Given the description of an element on the screen output the (x, y) to click on. 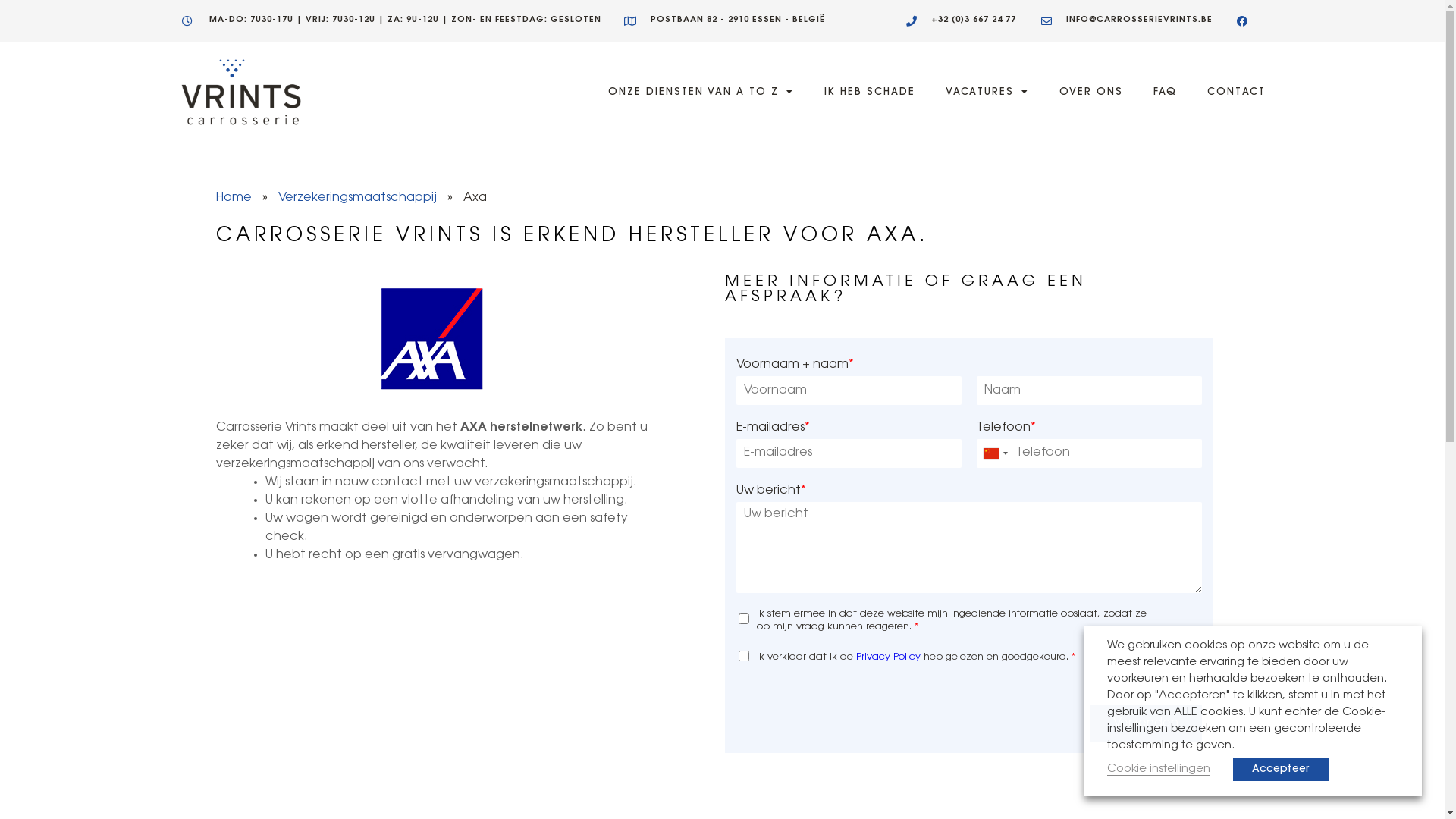
Cookie instellingen Element type: text (1158, 769)
OVER ONS Element type: text (1091, 92)
CONTACT Element type: text (1236, 92)
FAQ Element type: text (1165, 92)
+32 (0)3 667 24 77 Element type: text (960, 20)
INFO@CARROSSERIEVRINTS.BE Element type: text (1125, 20)
VACATURES Element type: text (987, 92)
Home Element type: text (233, 197)
IK HEB SCHADE Element type: text (869, 92)
Verzenden Element type: text (1145, 723)
ONZE DIENSTEN VAN A TO Z Element type: text (701, 92)
Accepteer Element type: text (1280, 769)
Verzekeringsmaatschappij Element type: text (357, 197)
Privacy Policy Element type: text (888, 657)
